Given the description of an element on the screen output the (x, y) to click on. 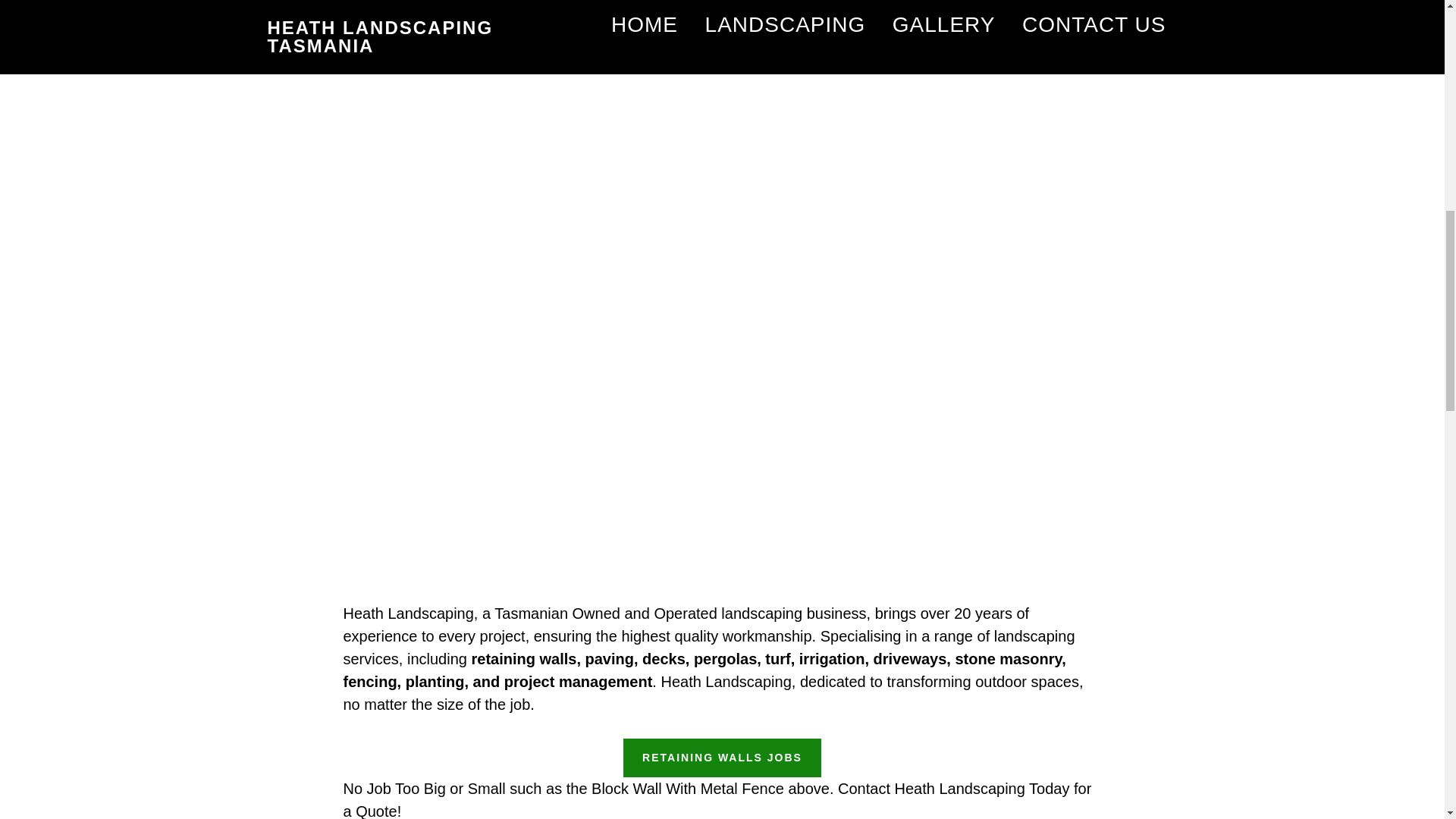
RETAINING WALLS JOBS (722, 757)
